Given the description of an element on the screen output the (x, y) to click on. 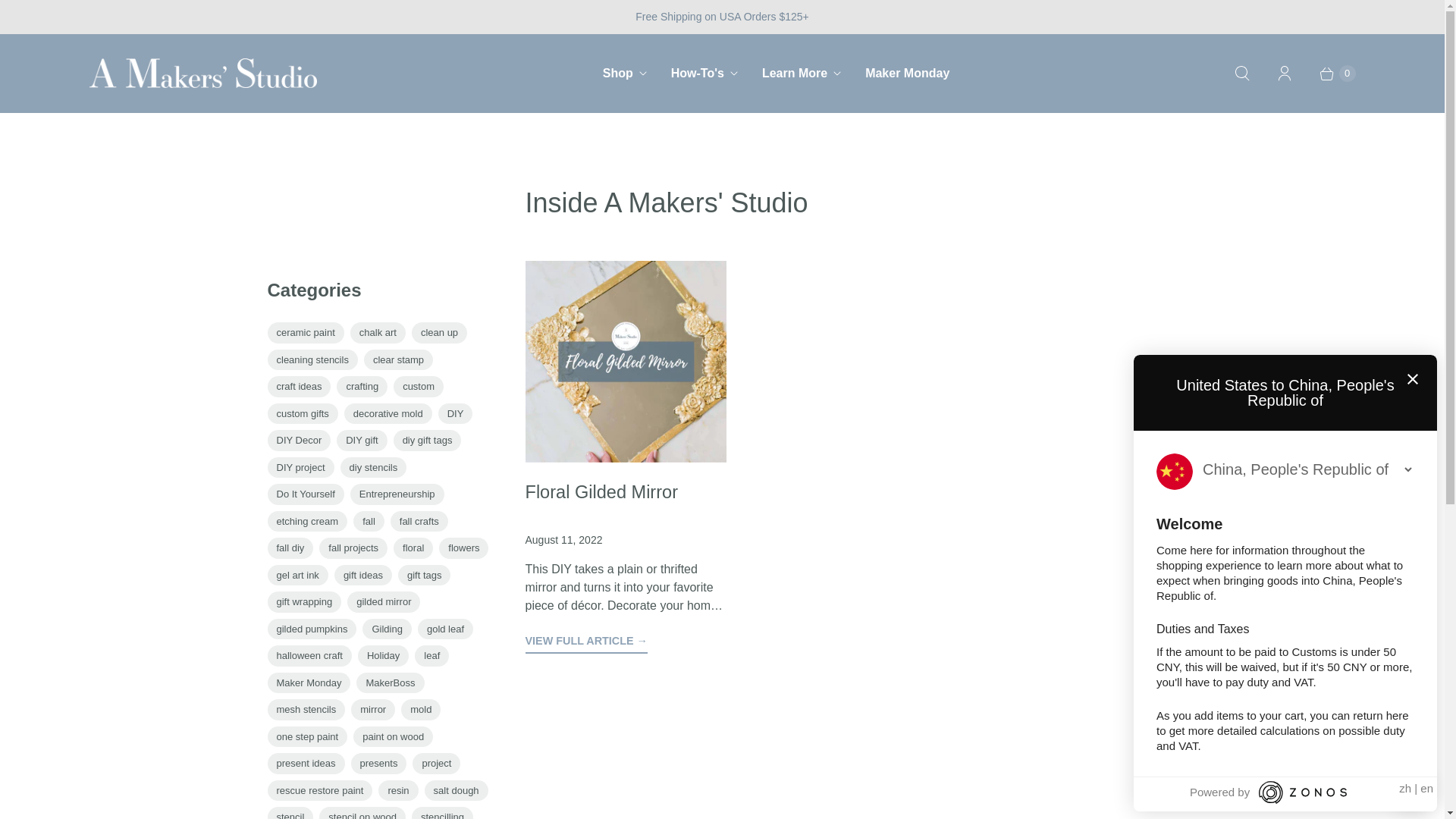
Floral Gilded Mirror (585, 642)
Open Zonos Hello (1411, 791)
Floral Gilded Mirror (601, 492)
Select your country (1306, 469)
